Given the description of an element on the screen output the (x, y) to click on. 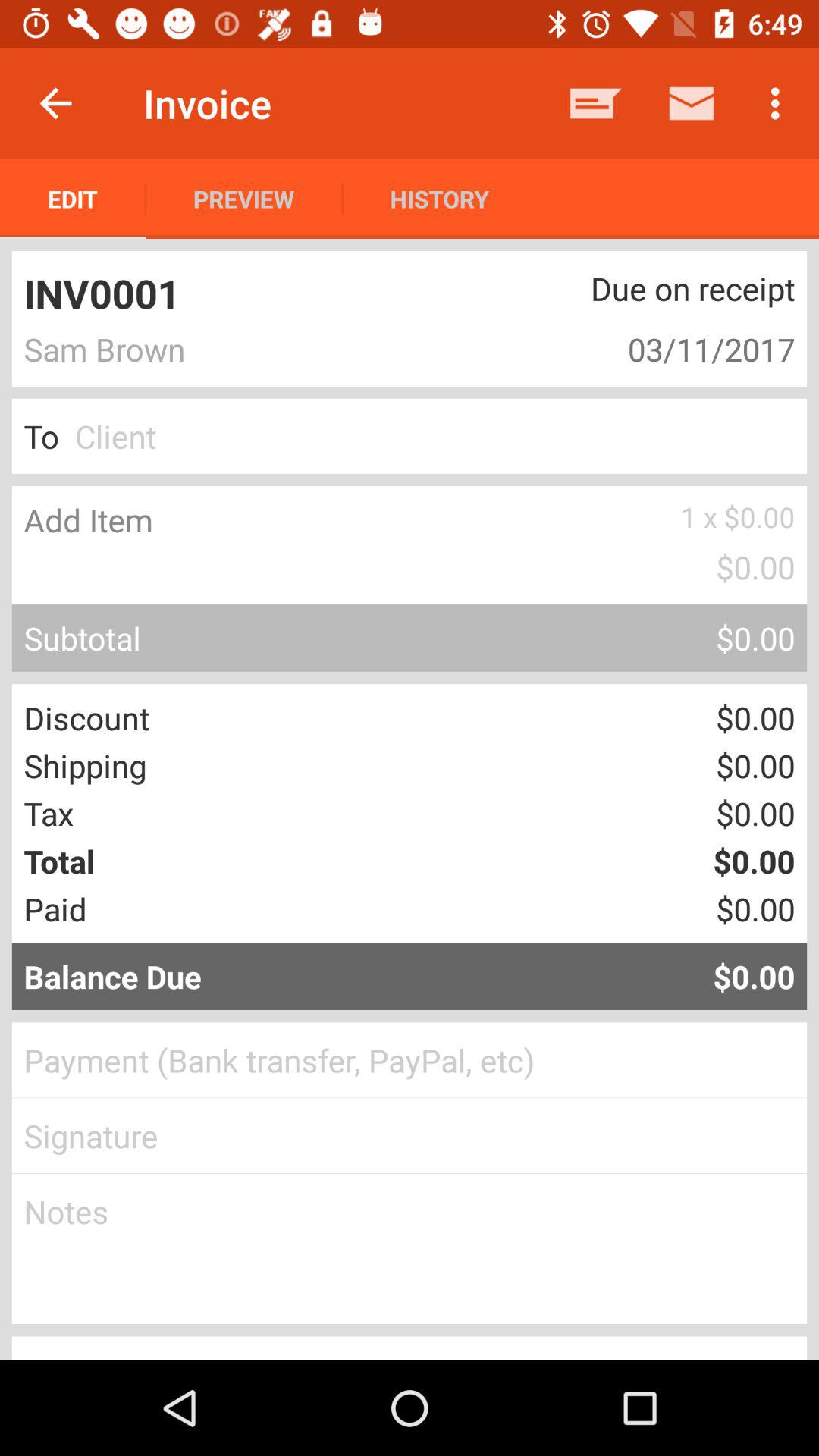
swipe until the history item (439, 198)
